Given the description of an element on the screen output the (x, y) to click on. 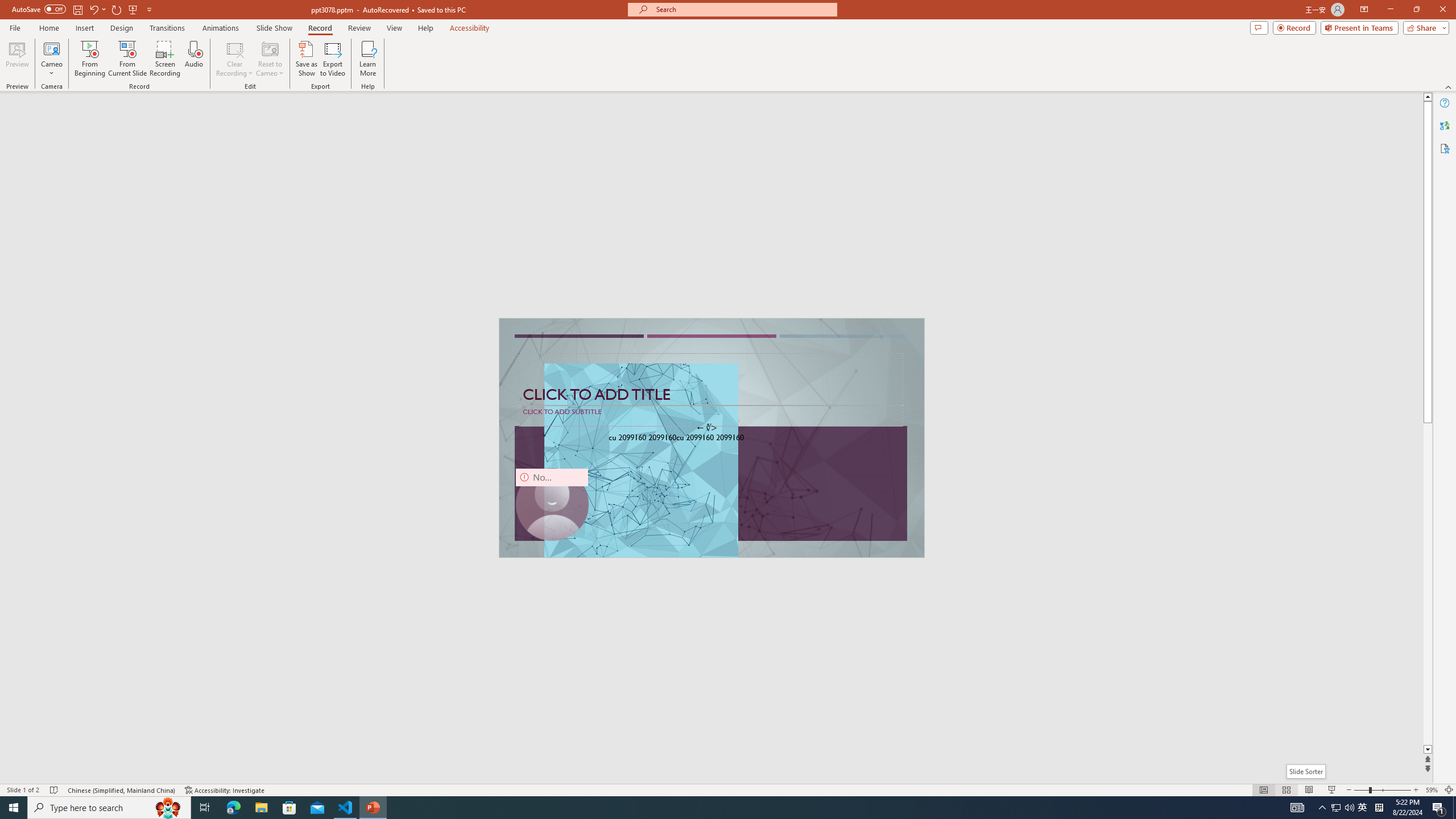
Close Dialog (545, 387)
Run and Debug (Ctrl+Shift+D) (76, 353)
Problems (Ctrl+Shift+M) (323, 533)
Transformer Circuits Thread (713, 78)
Terminal (Ctrl+`) (579, 533)
remote (69, 766)
Views and More Actions... (251, 182)
SJTUvpn (440, 78)
